Given the description of an element on the screen output the (x, y) to click on. 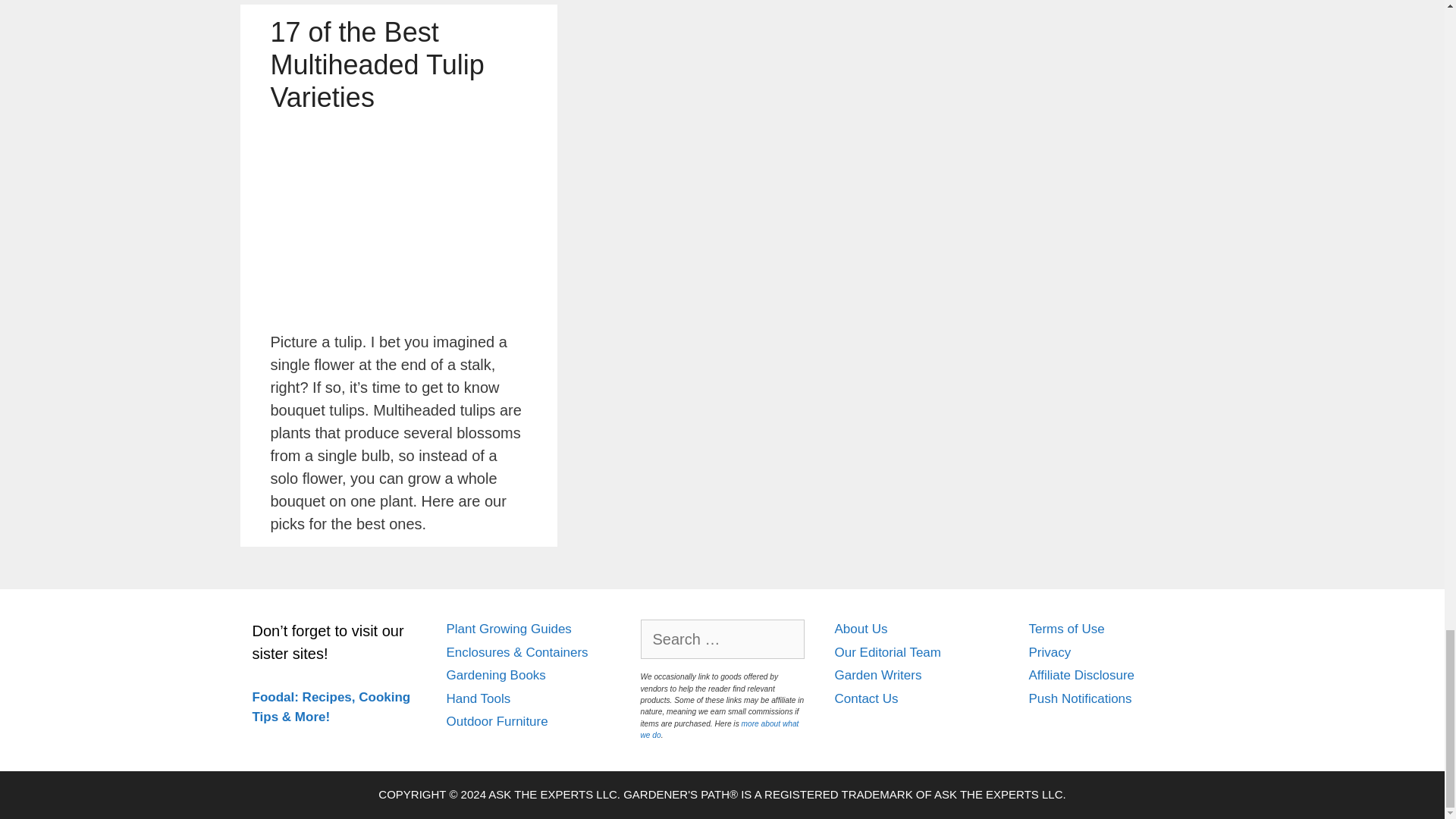
Search for: (721, 639)
